Given the description of an element on the screen output the (x, y) to click on. 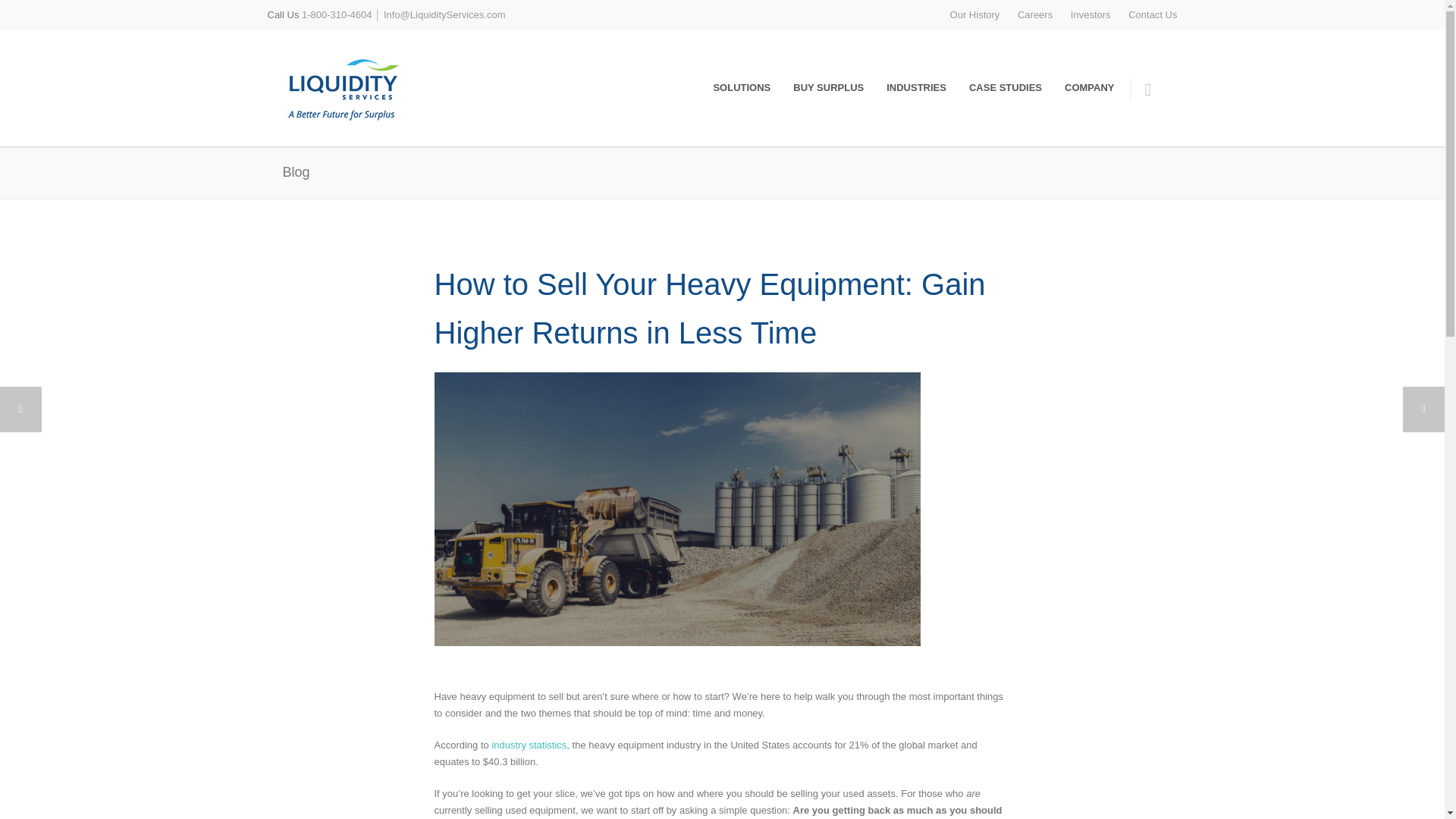
BUY SURPLUS (828, 88)
1-800-310-4604 (336, 14)
SOLUTIONS (741, 88)
Contact Us (1152, 14)
Careers (1034, 14)
INDUSTRIES (916, 88)
Our History (975, 14)
CASE STUDIES (1005, 88)
Investors (1090, 14)
